Given the description of an element on the screen output the (x, y) to click on. 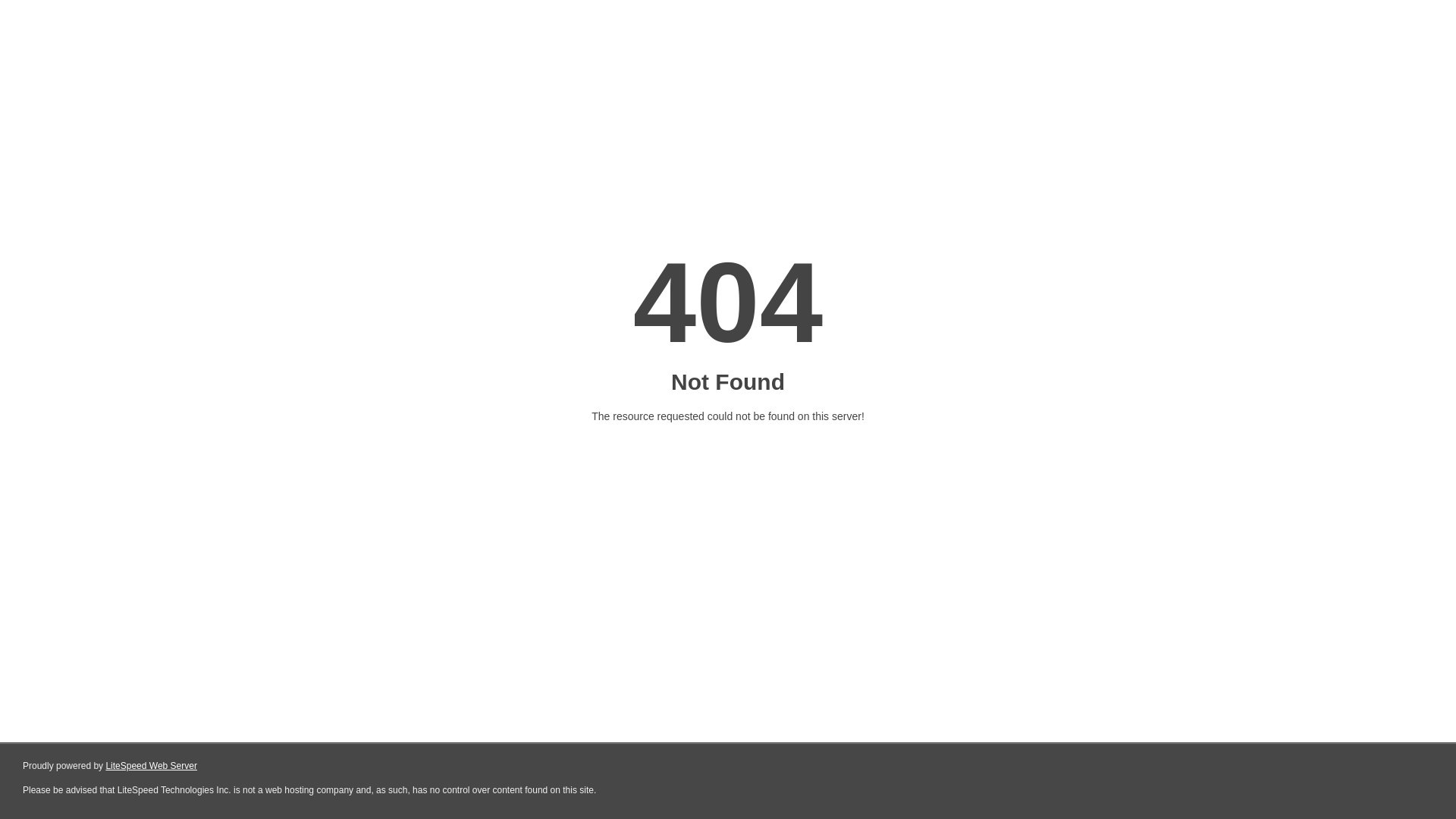
LiteSpeed Web Server Element type: text (151, 765)
